Given the description of an element on the screen output the (x, y) to click on. 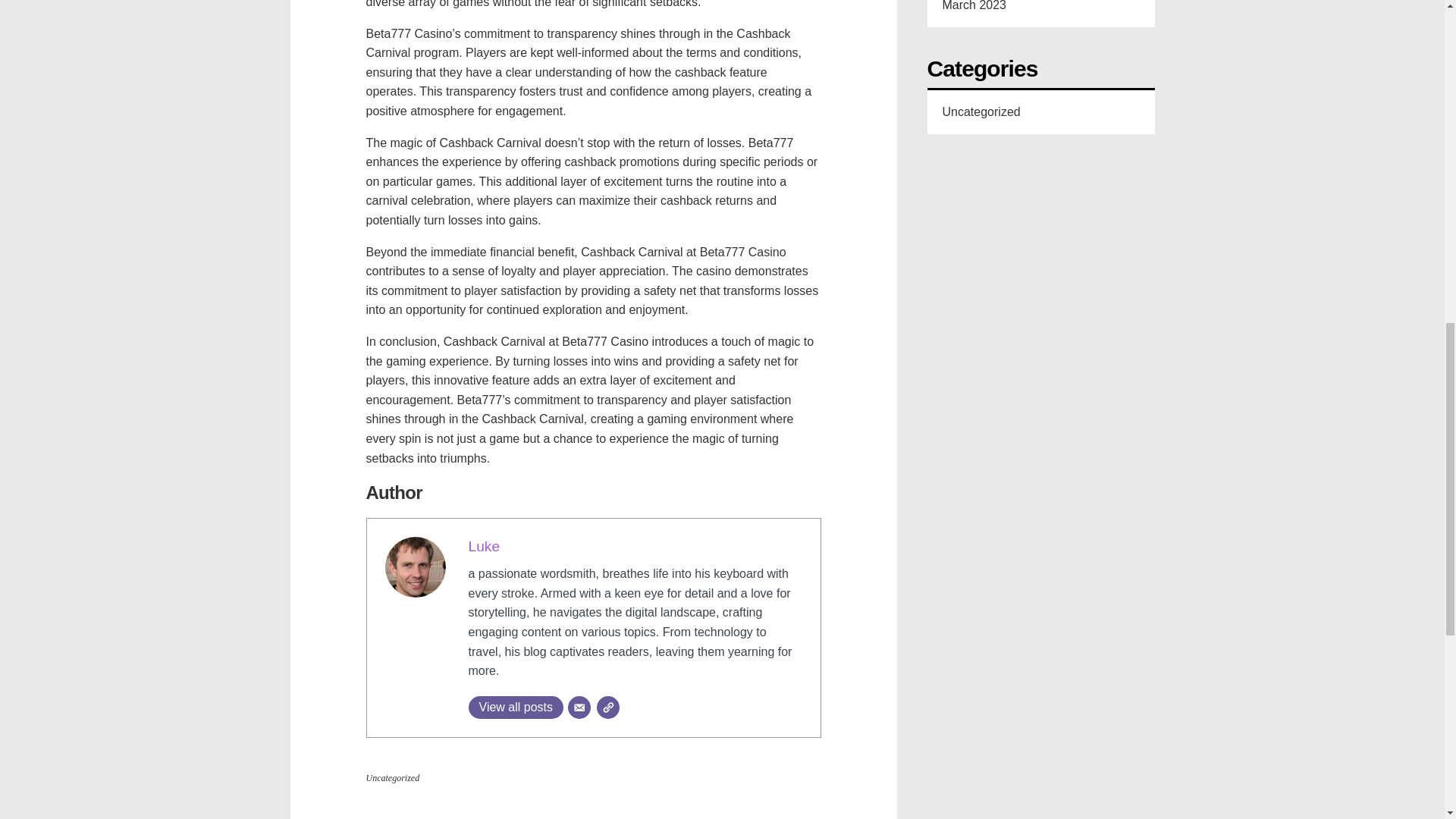
View all posts (516, 693)
Luke (484, 532)
Uncategorized (392, 764)
View all posts (516, 693)
Luke (484, 532)
March 2023 (974, 6)
